Given the description of an element on the screen output the (x, y) to click on. 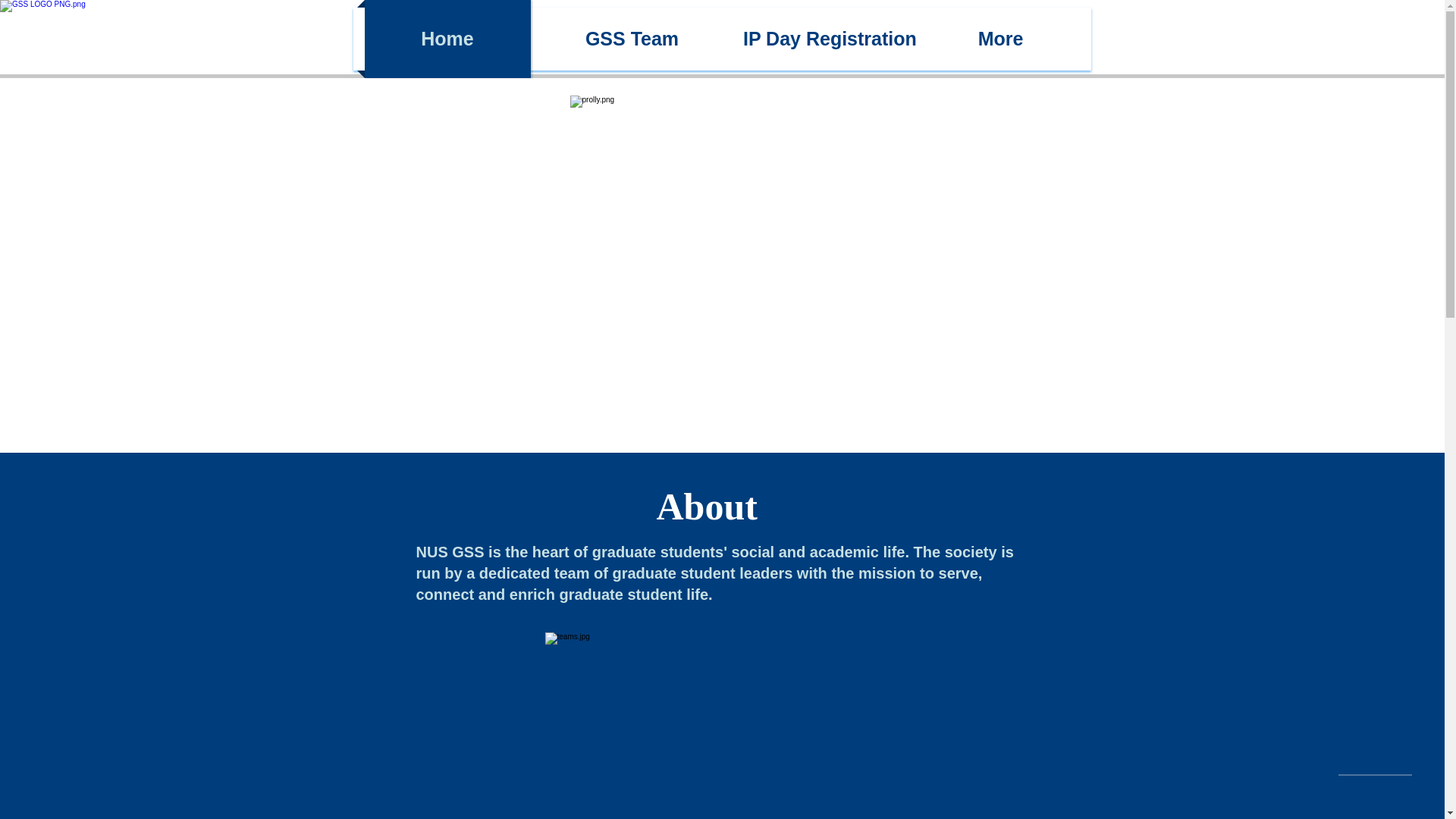
Home (446, 38)
IP Day Registration (816, 38)
GSS Team (631, 38)
